Given the description of an element on the screen output the (x, y) to click on. 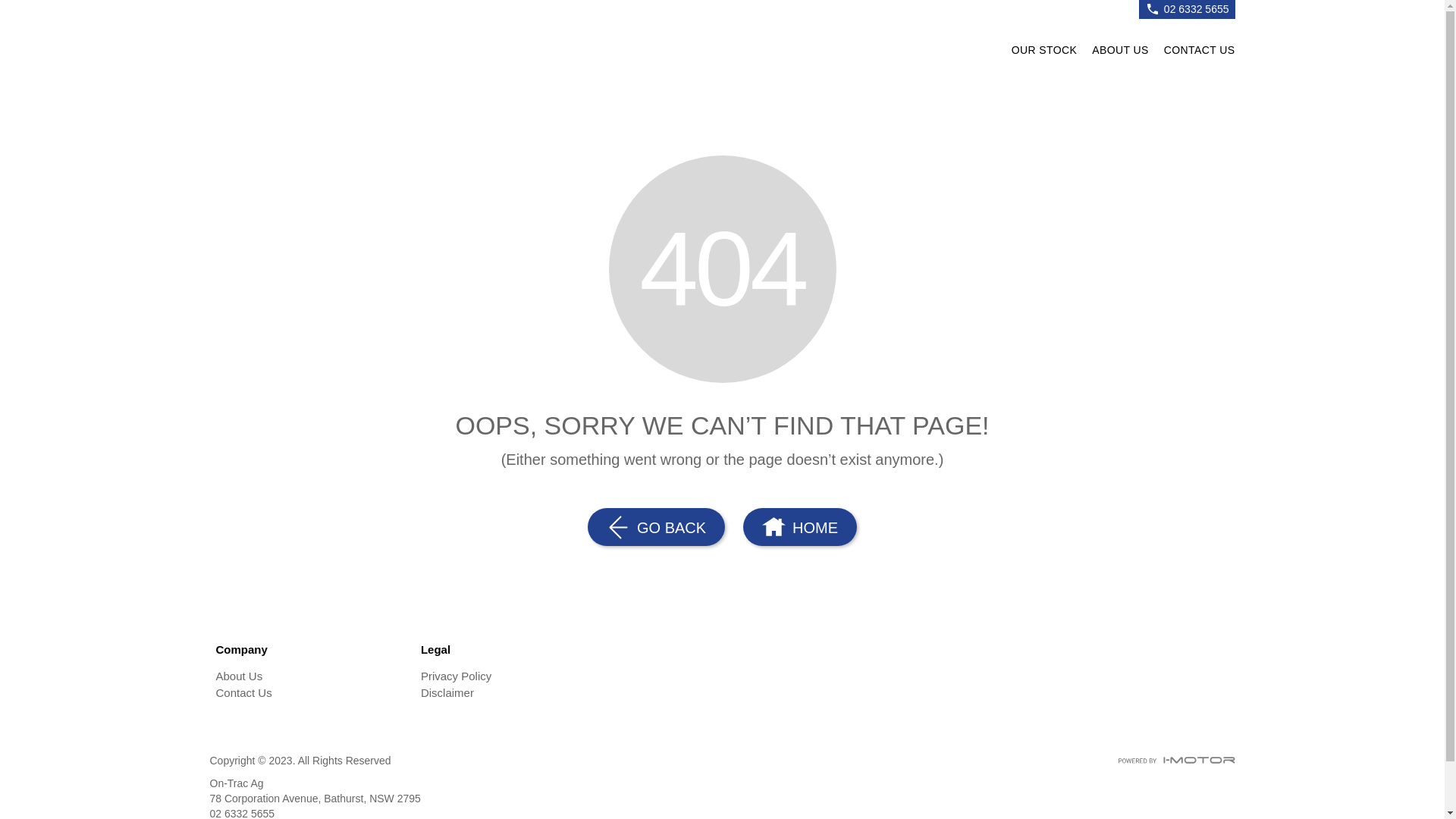
Disclaimer Element type: text (516, 692)
ABOUT US Element type: text (1120, 52)
HOME Element type: text (799, 527)
OUR STOCK Element type: text (1044, 52)
CONTACT US Element type: text (1195, 52)
Contact Us Element type: text (311, 692)
GO BACK Element type: text (655, 527)
02 6332 5655 Element type: text (1196, 9)
Privacy Policy Element type: text (516, 676)
About Us Element type: text (311, 676)
